Given the description of an element on the screen output the (x, y) to click on. 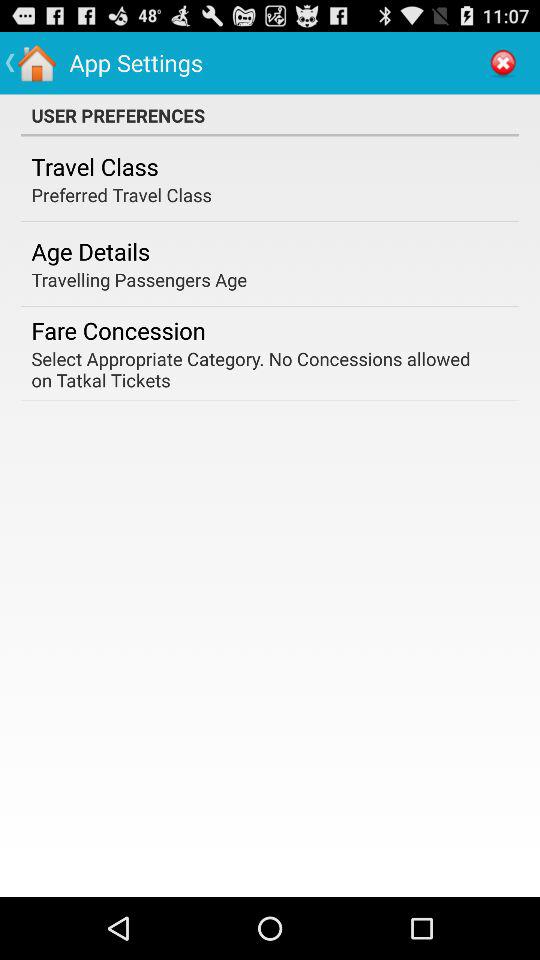
choose app below the travelling passengers age (118, 330)
